Given the description of an element on the screen output the (x, y) to click on. 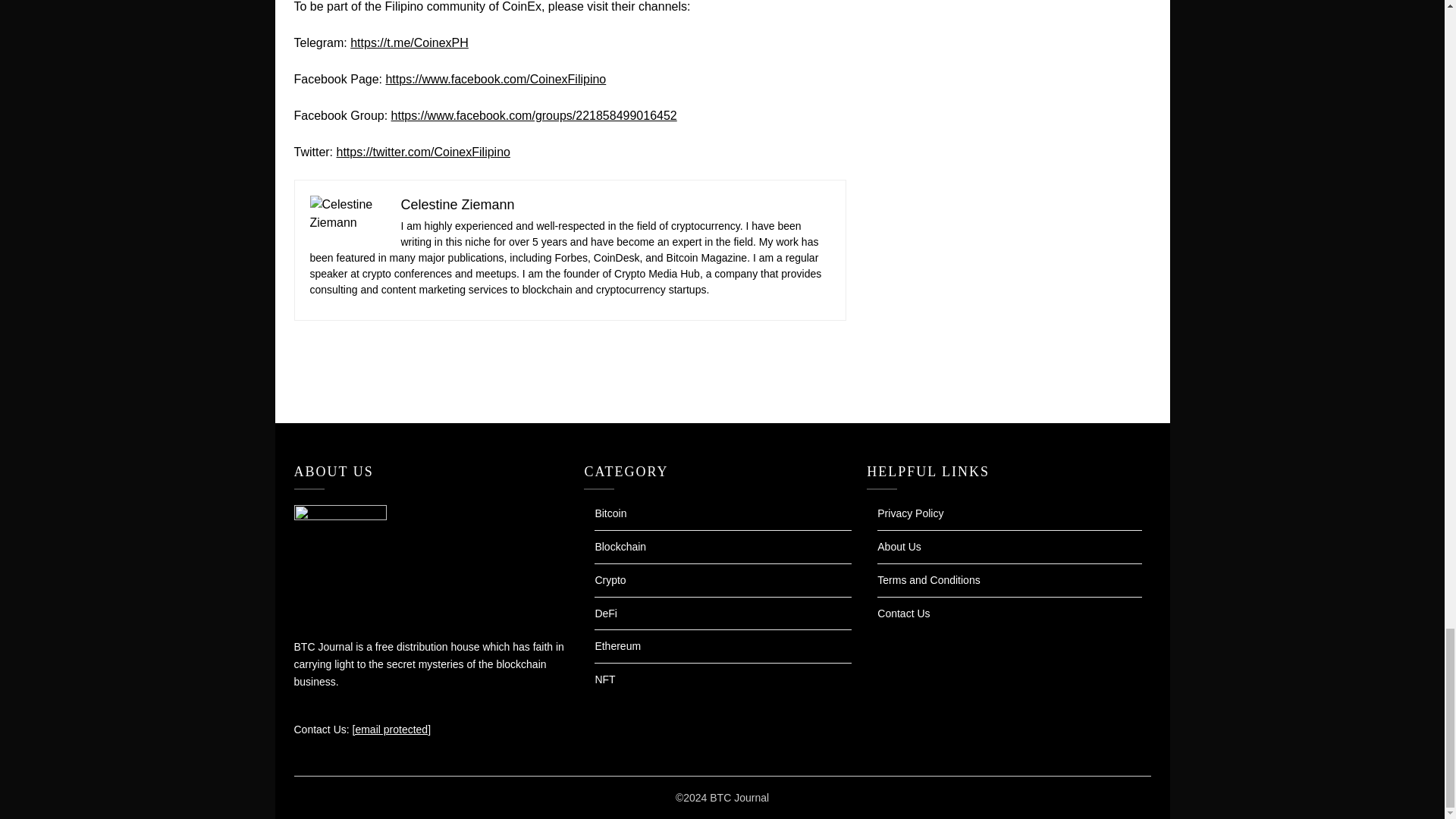
Celestine Ziemann (456, 204)
Blockchain (620, 546)
NFT (604, 679)
Contact Us (903, 613)
Privacy Policy (910, 512)
Bitcoin (610, 512)
Crypto (610, 580)
About Us (899, 546)
Ethereum (617, 645)
DeFi (605, 613)
Terms and Conditions (928, 580)
